Given the description of an element on the screen output the (x, y) to click on. 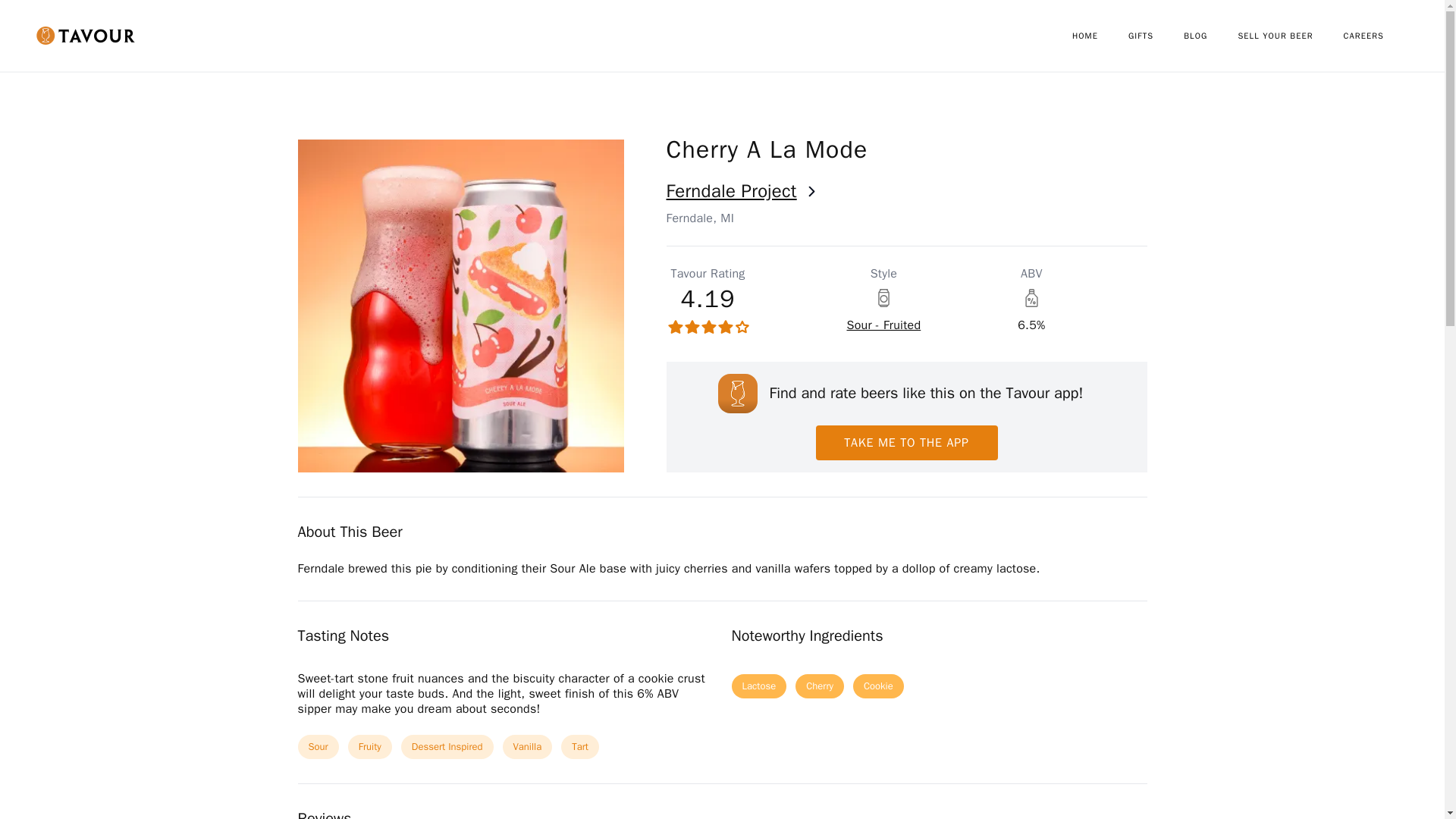
sell your beer (1289, 35)
CAREERS (1378, 35)
home (1099, 35)
blog (1210, 35)
GIFTS (1155, 35)
TAKE ME TO THE APP (906, 442)
careers (1378, 35)
gifts (1155, 35)
BLOG (1210, 35)
HOME (1099, 35)
